Given the description of an element on the screen output the (x, y) to click on. 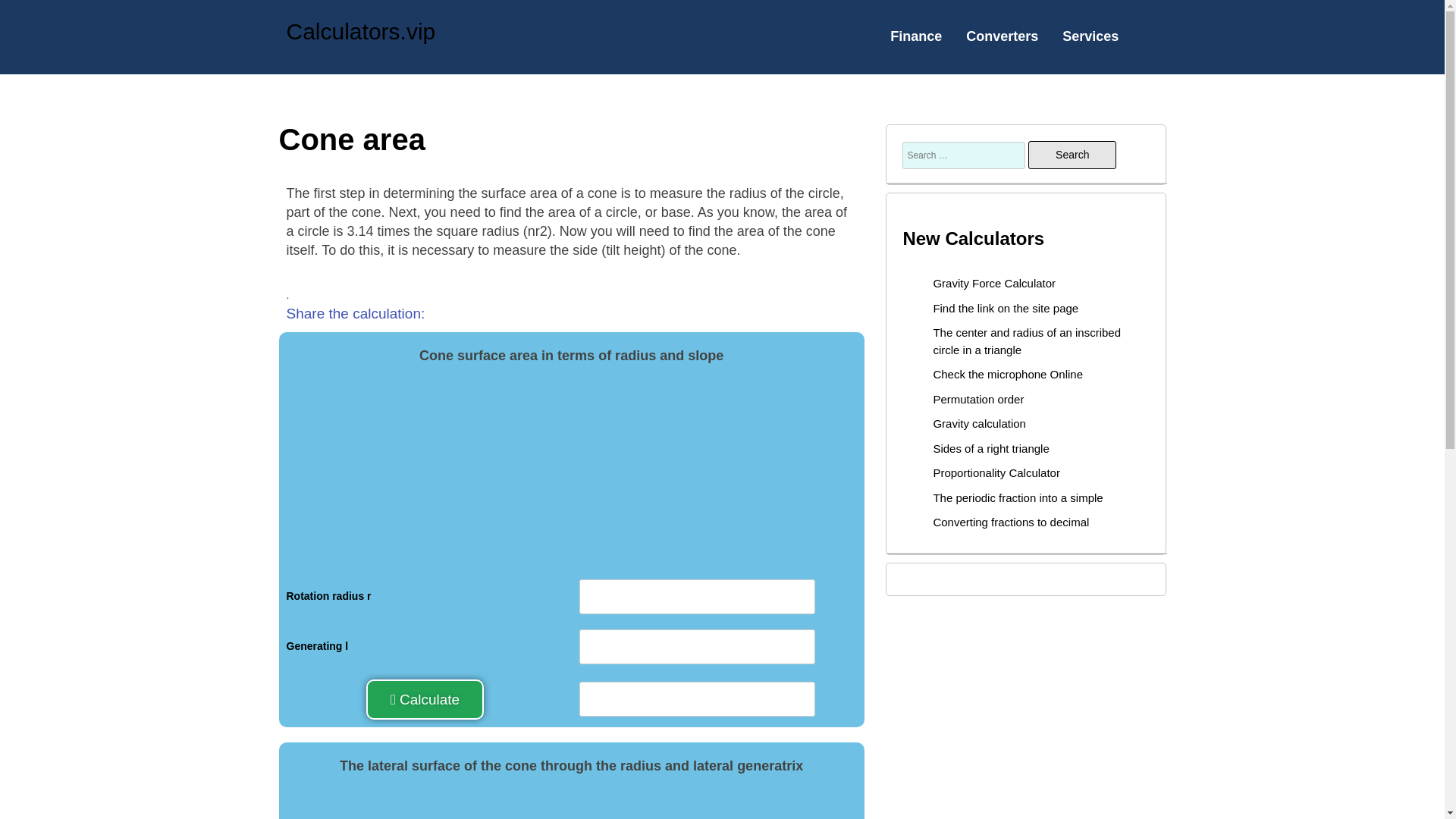
Calculators.vip (360, 31)
Search (1071, 154)
Proportionality Calculator (996, 472)
Gravity calculation (979, 422)
Converting fractions to decimal (1011, 521)
Check the microphone Online (1008, 373)
Search (1071, 154)
Search (1071, 154)
Gravity Force Calculator (994, 282)
Sides of a right triangle (990, 448)
